Given the description of an element on the screen output the (x, y) to click on. 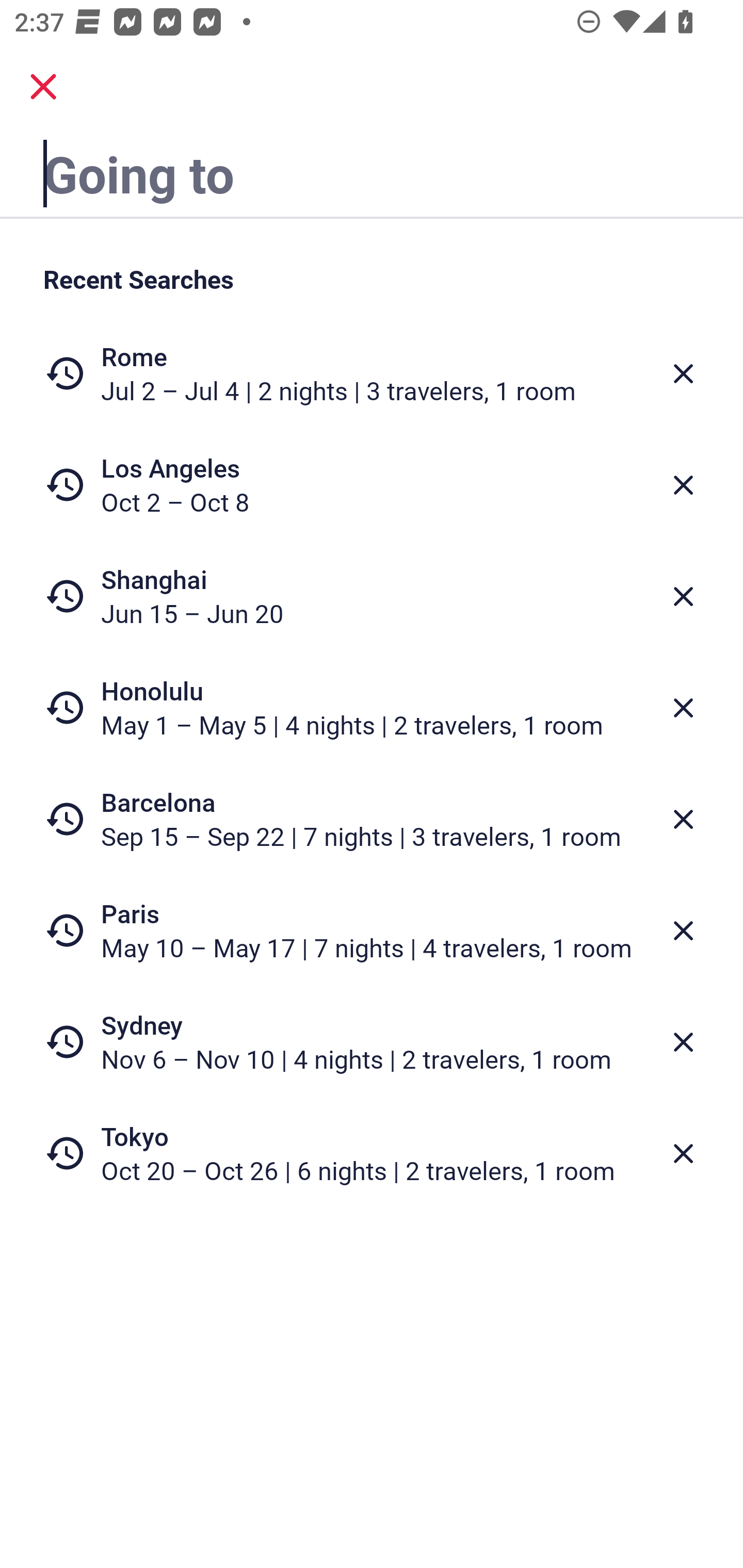
close. (43, 86)
Delete from recent searches (683, 373)
Los Angeles Oct 2 – Oct 8 (371, 484)
Delete from recent searches (683, 485)
Shanghai Jun 15 – Jun 20 (371, 596)
Delete from recent searches (683, 596)
Delete from recent searches (683, 707)
Delete from recent searches (683, 819)
Delete from recent searches (683, 930)
Delete from recent searches (683, 1041)
Delete from recent searches (683, 1153)
